Given the description of an element on the screen output the (x, y) to click on. 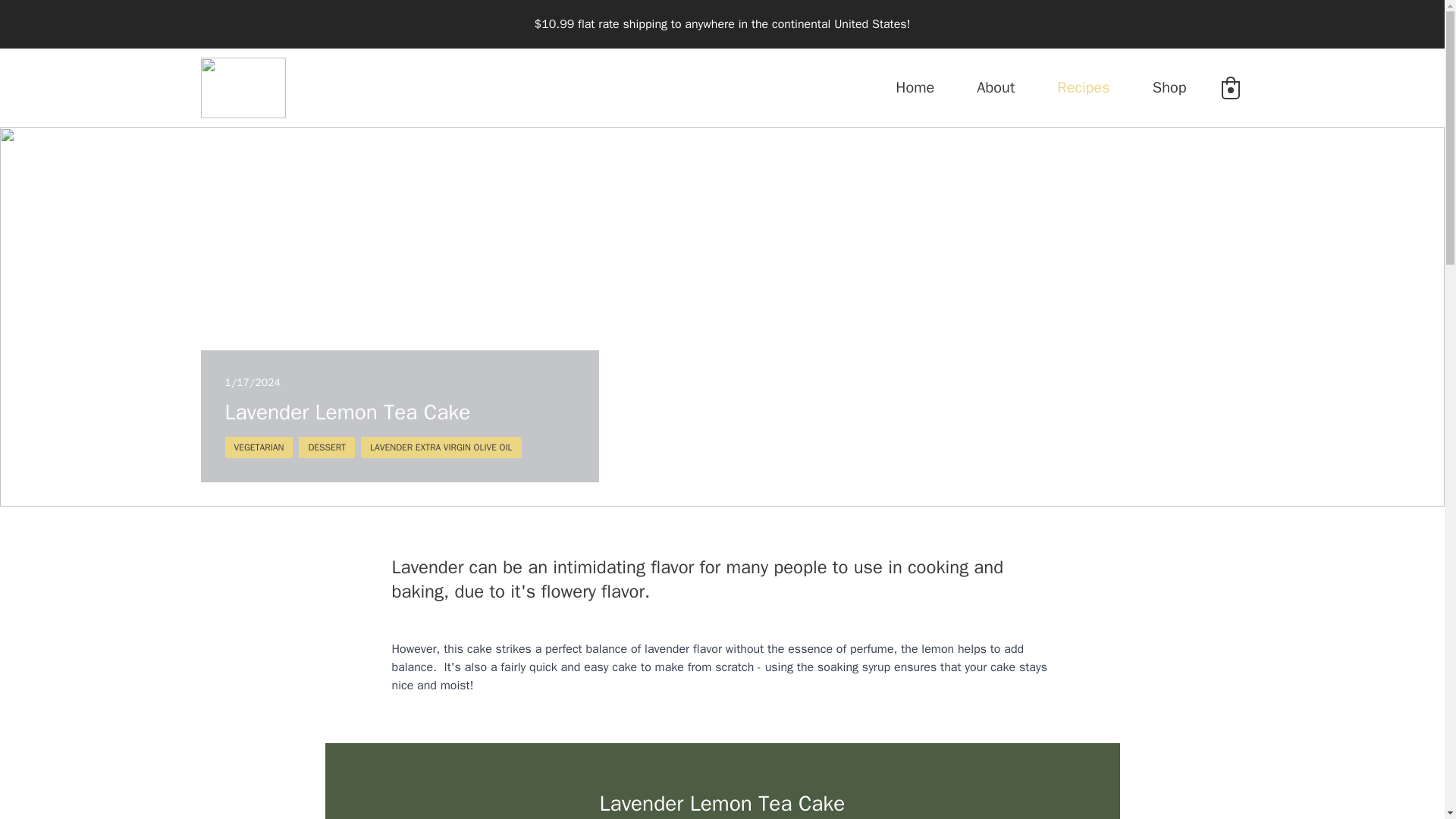
VEGETARIAN (258, 446)
Recipes (1083, 87)
Shop (1169, 87)
About (995, 87)
Home (914, 87)
LAVENDER EXTRA VIRGIN OLIVE OIL (441, 446)
DESSERT (326, 446)
